Given the description of an element on the screen output the (x, y) to click on. 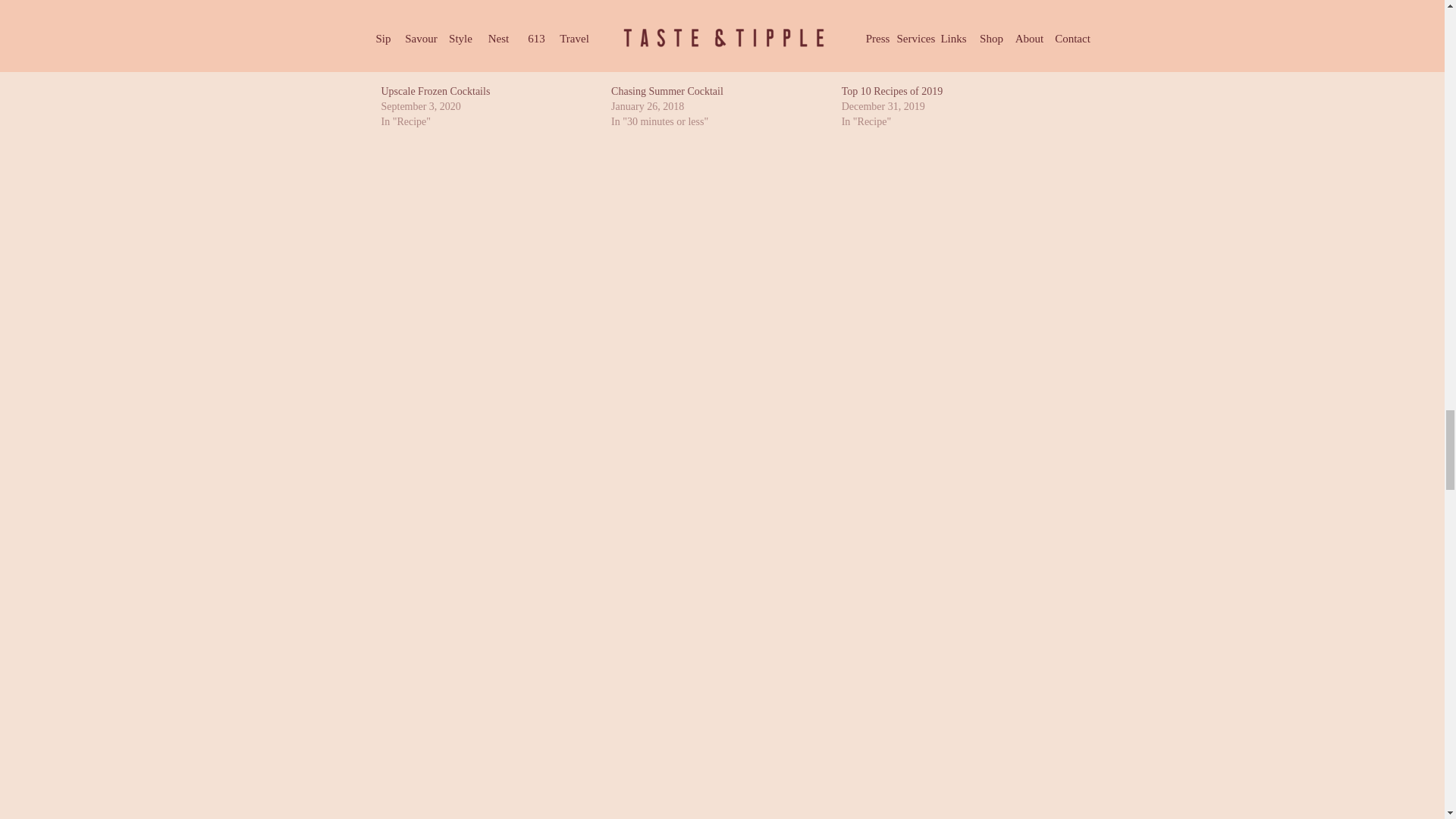
Chasing Summer Cocktail (667, 91)
Upscale Frozen Cocktails (434, 91)
Top 10 Recipes of 2019 (892, 91)
Upscale Frozen Cocktails (434, 91)
Top 10 Recipes of 2019 (949, 42)
Upscale Frozen Cocktails (487, 42)
Top 10 Recipes of 2019 (892, 91)
Chasing Summer Cocktail (719, 42)
Chasing Summer Cocktail (667, 91)
